Given the description of an element on the screen output the (x, y) to click on. 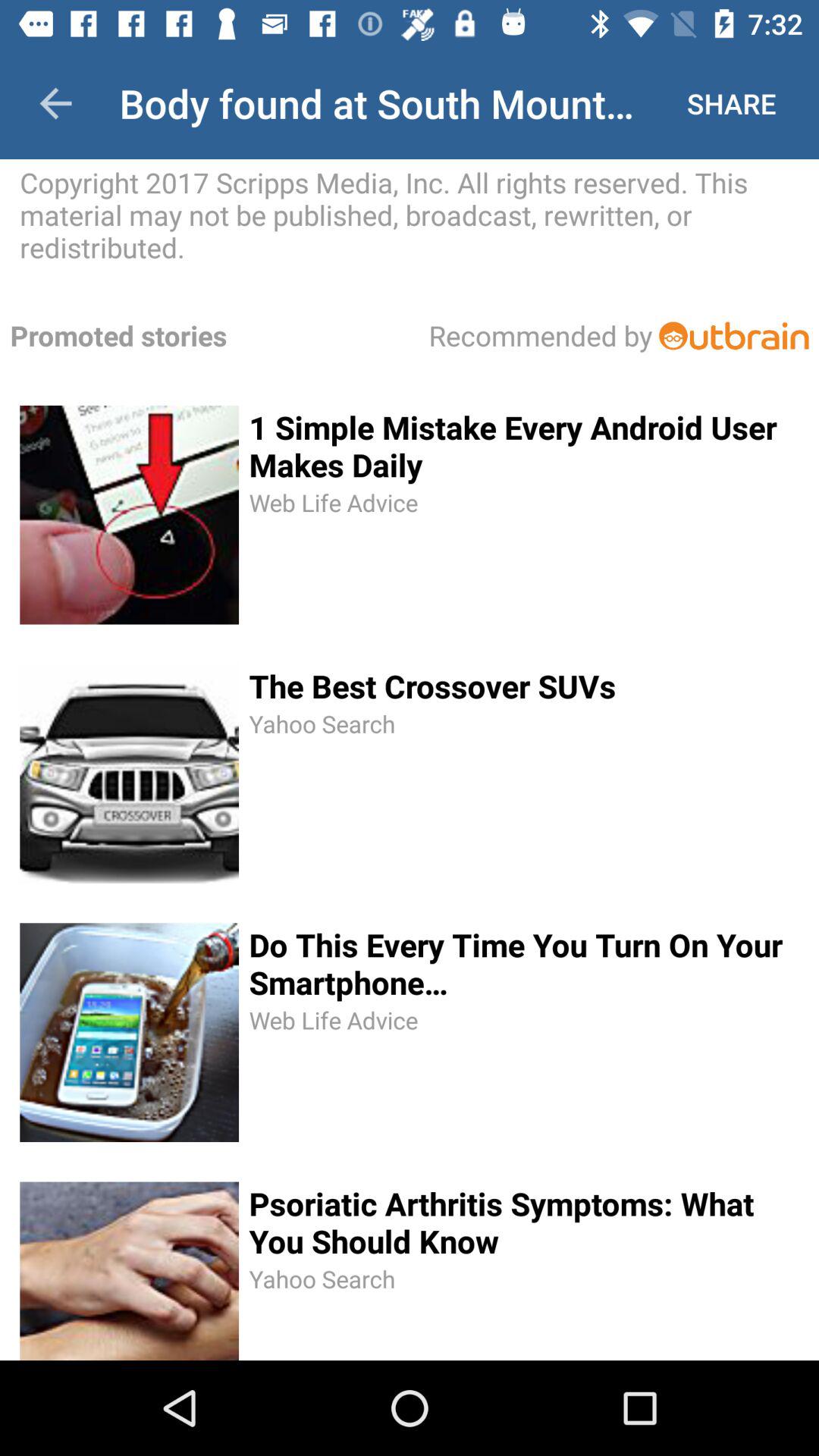
swipe to share (731, 103)
